Given the description of an element on the screen output the (x, y) to click on. 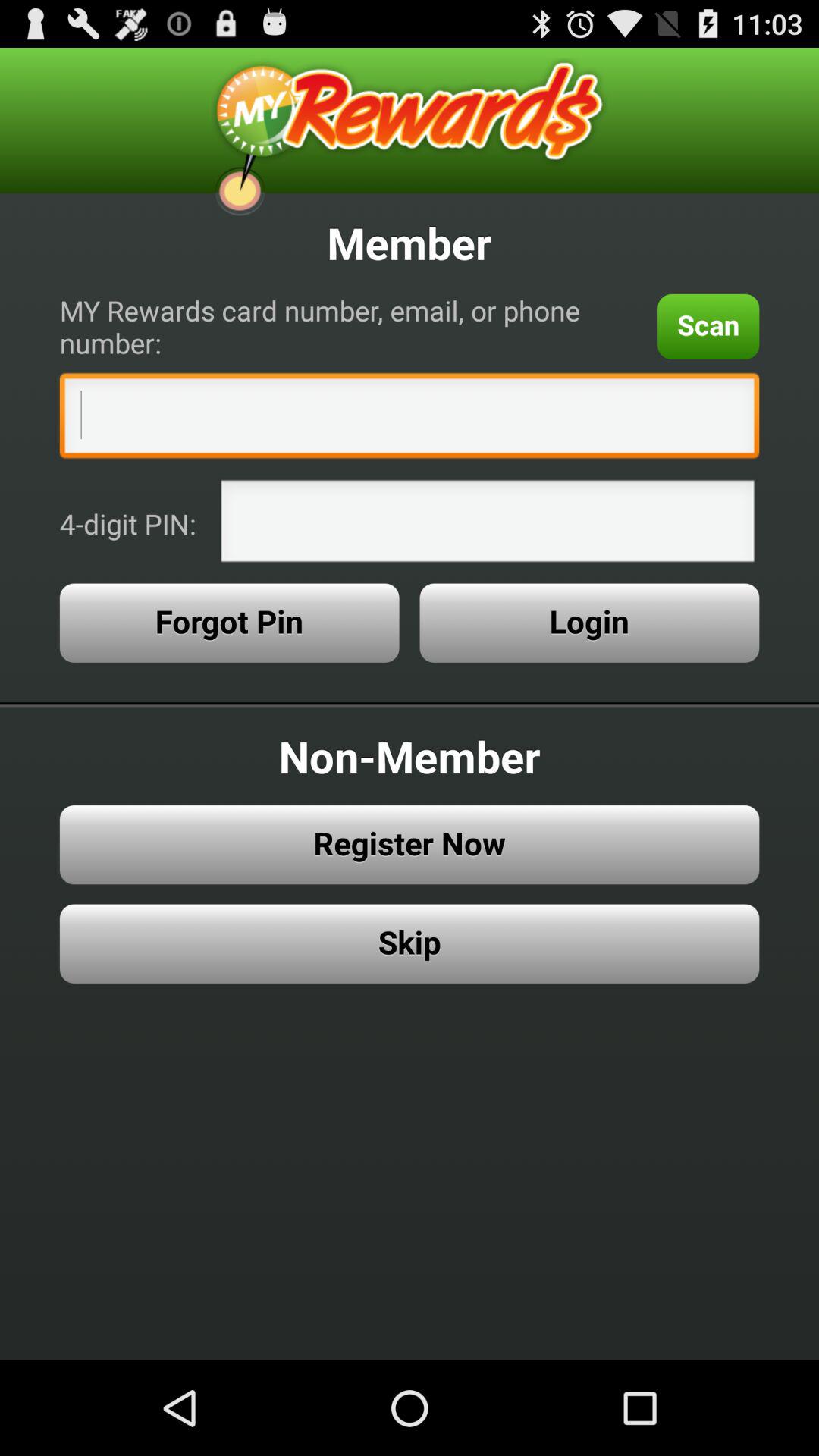
launch the button to the right of forgot pin item (589, 622)
